Given the description of an element on the screen output the (x, y) to click on. 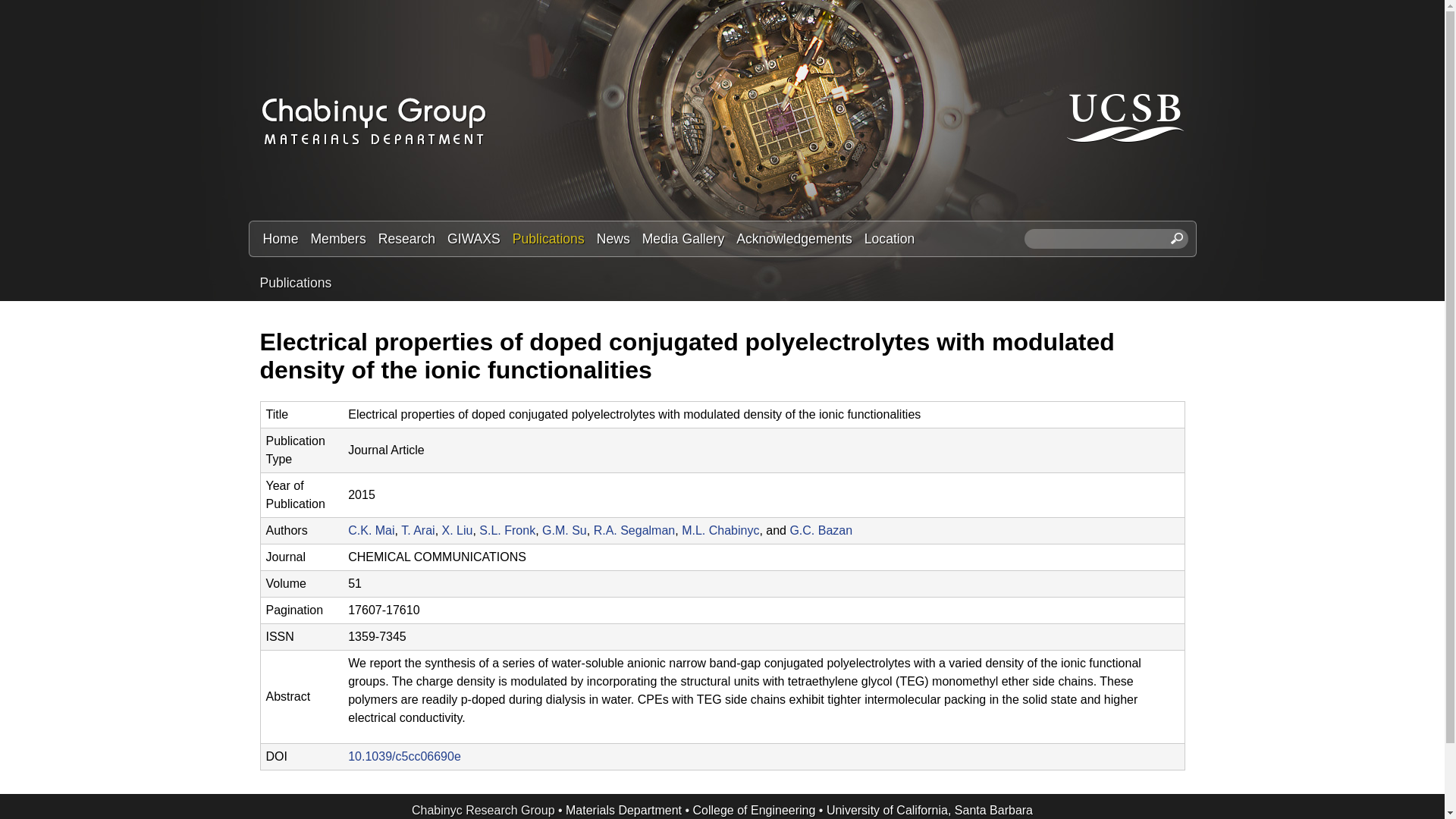
Media Gallery (683, 238)
G.C. Bazan (820, 530)
Members (337, 238)
X. Liu (457, 530)
Home (280, 238)
College of Engineering (754, 809)
Location (890, 238)
Publications (548, 238)
GIWAXS (473, 238)
Publications (295, 282)
S.L. Fronk (507, 530)
C.K. Mai (370, 530)
Materials Department (623, 809)
Enter the terms you wish to search for. (1105, 238)
